Given the description of an element on the screen output the (x, y) to click on. 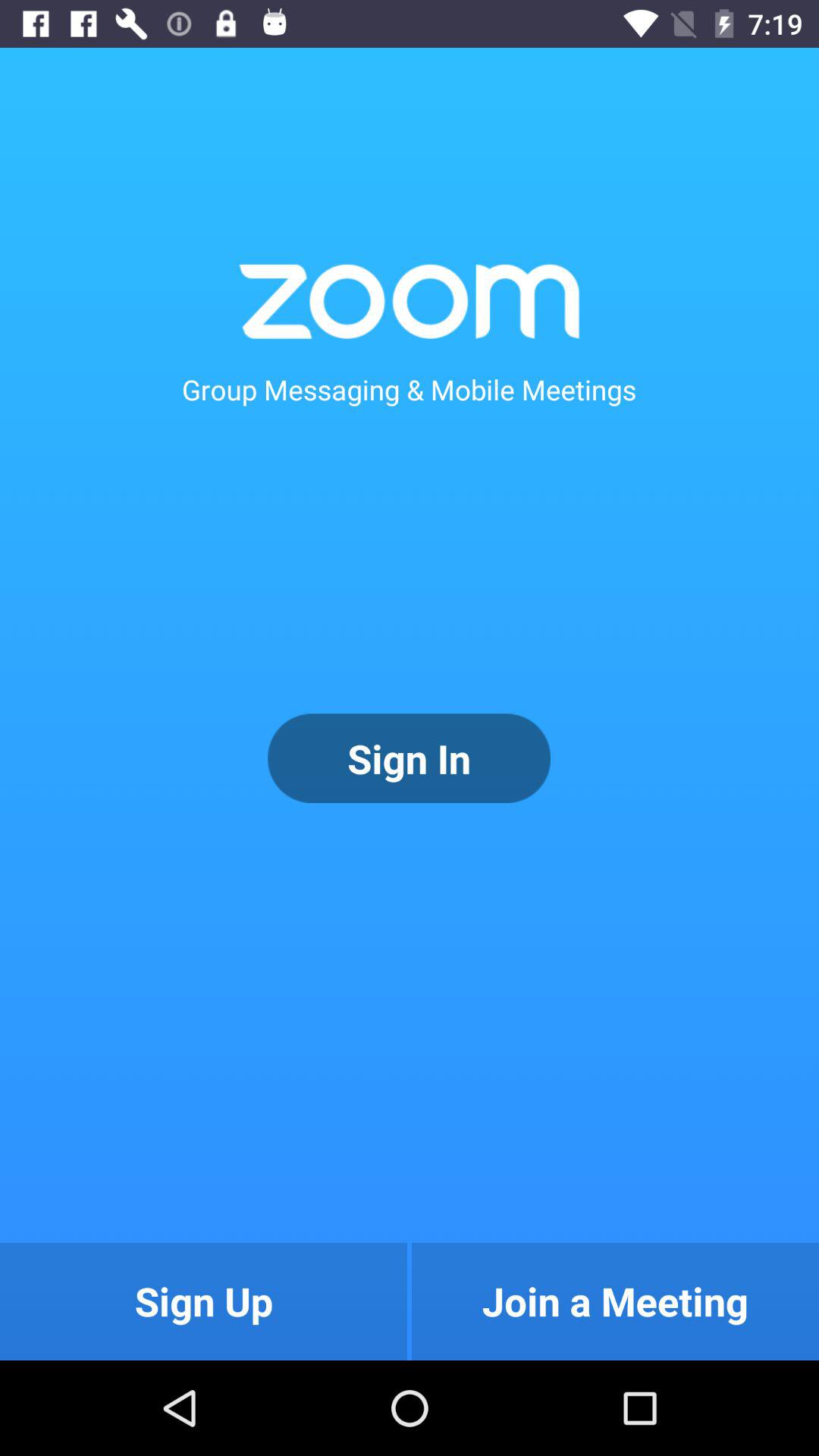
press item at the bottom left corner (203, 1301)
